Given the description of an element on the screen output the (x, y) to click on. 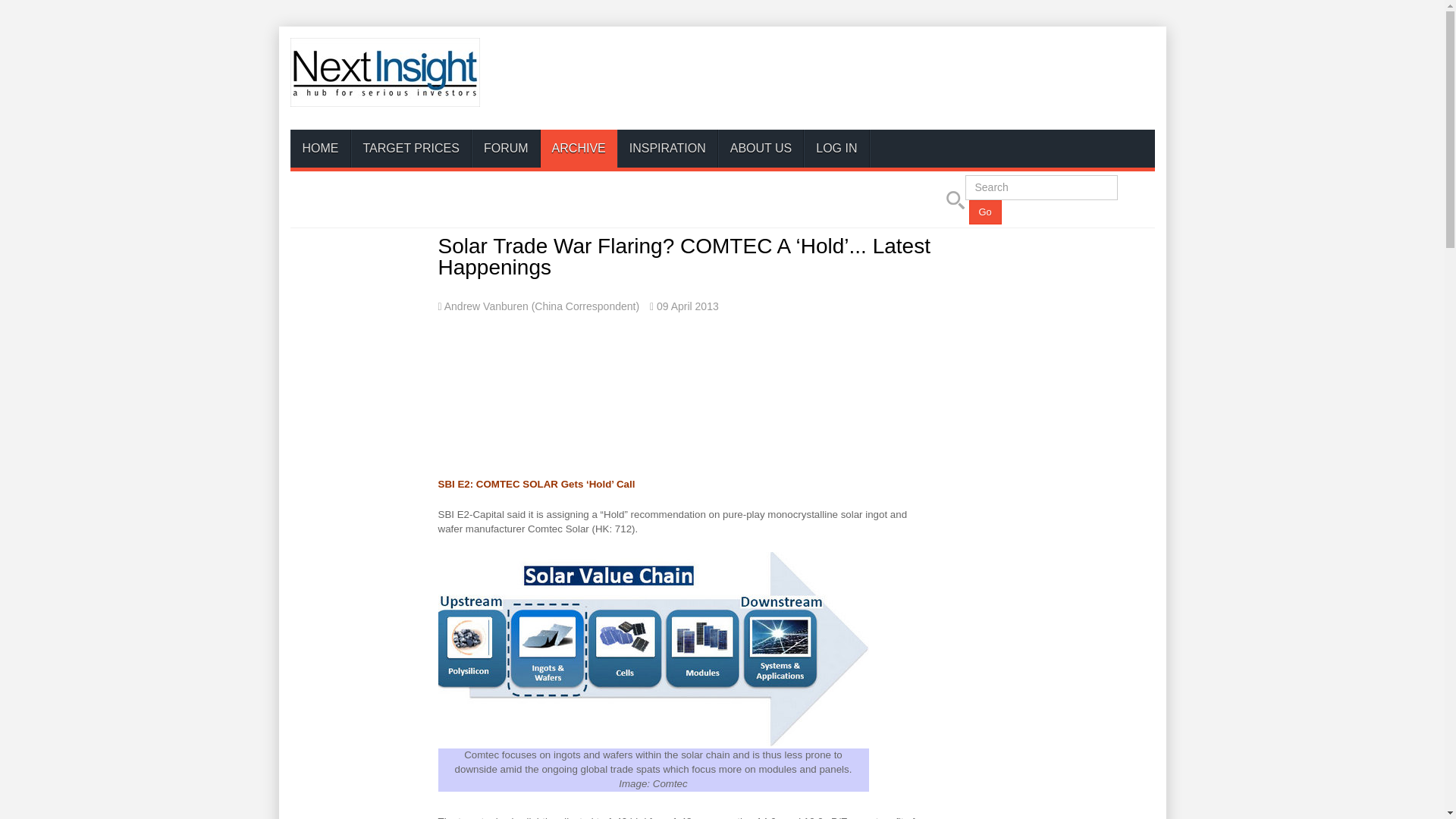
TARGET PRICES (410, 148)
FORUM (505, 148)
INSPIRATION (667, 148)
Go (985, 211)
LOG IN (836, 148)
NextInsight (384, 72)
Published:  (684, 306)
Advertisement (685, 376)
ABOUT US (761, 148)
Written by:  (539, 306)
ARCHIVE (578, 148)
HOME (319, 148)
Advertisement (878, 79)
